Given the description of an element on the screen output the (x, y) to click on. 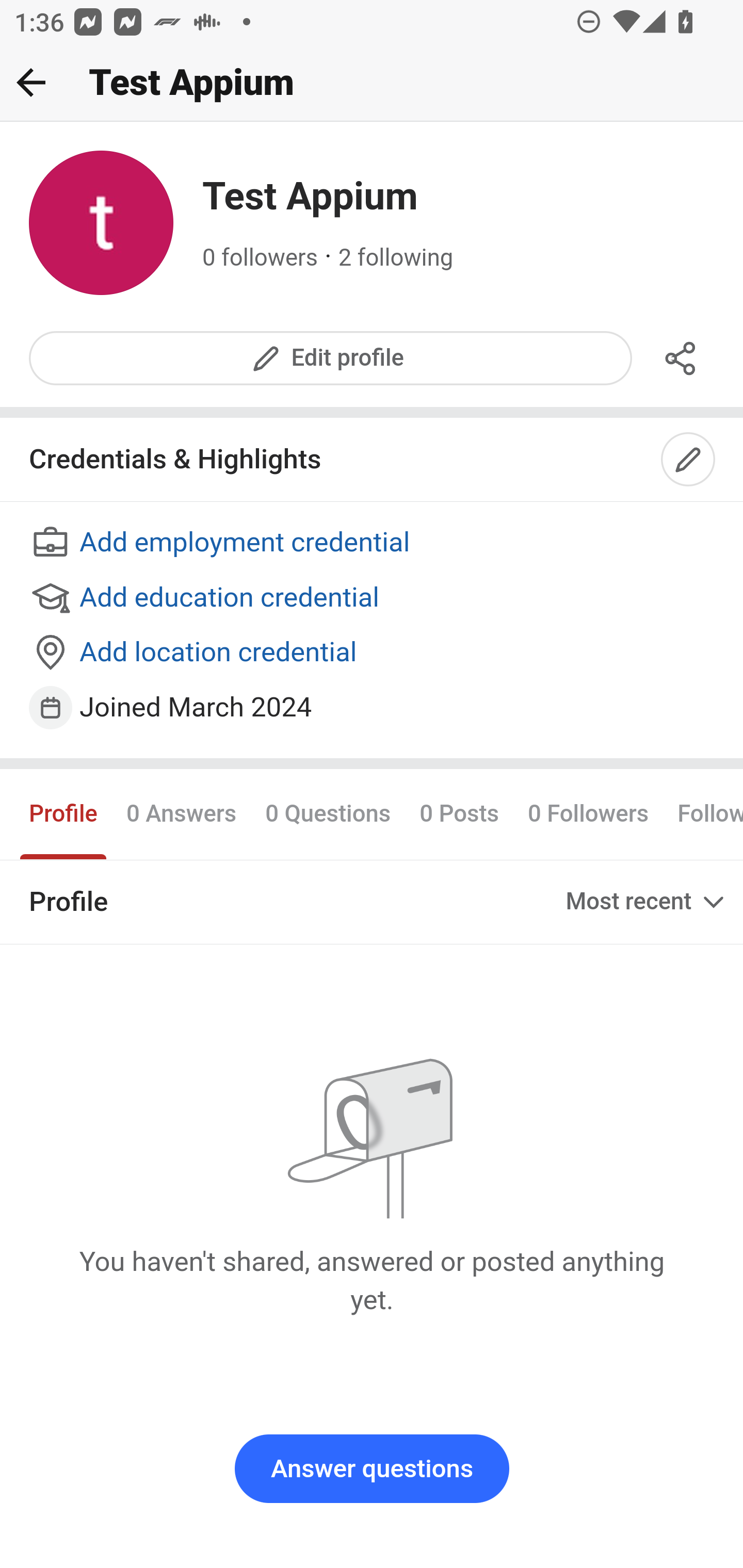
Back (30, 82)
0 followers (260, 257)
2 following (395, 257)
Share (681, 358)
Edit profile (330, 357)
Edit credentials (688, 459)
Add employment credential (372, 543)
Add education credential (372, 598)
Add location credential (372, 653)
Profile (63, 813)
0 Answers (180, 813)
0 Questions (327, 813)
0 Posts (459, 813)
0 Followers (588, 813)
Most recent (647, 901)
Answer questions (371, 1469)
